Given the description of an element on the screen output the (x, y) to click on. 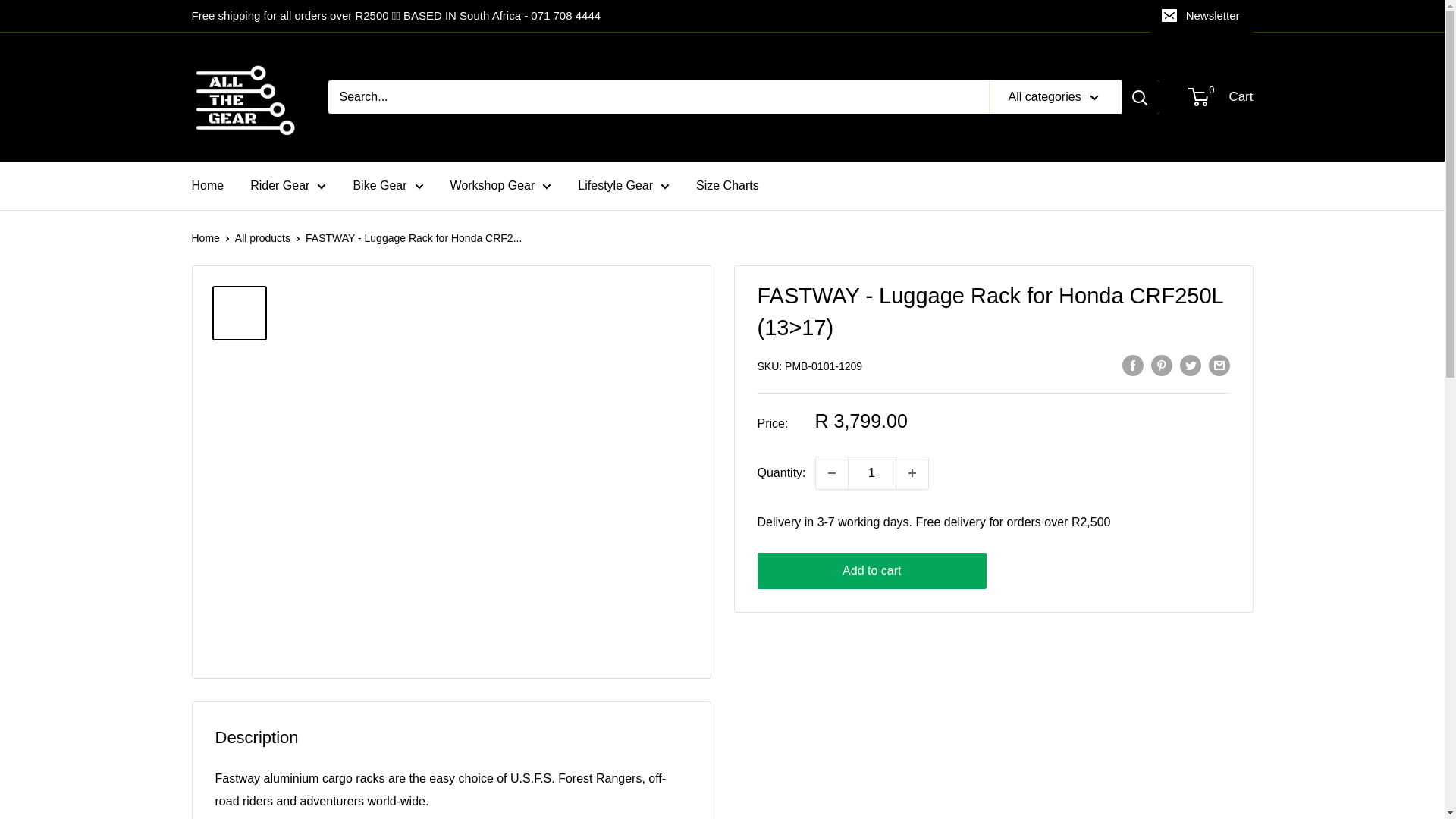
Newsletter (1201, 15)
1 (871, 472)
Increase quantity by 1 (912, 472)
Decrease quantity by 1 (831, 472)
